Given the description of an element on the screen output the (x, y) to click on. 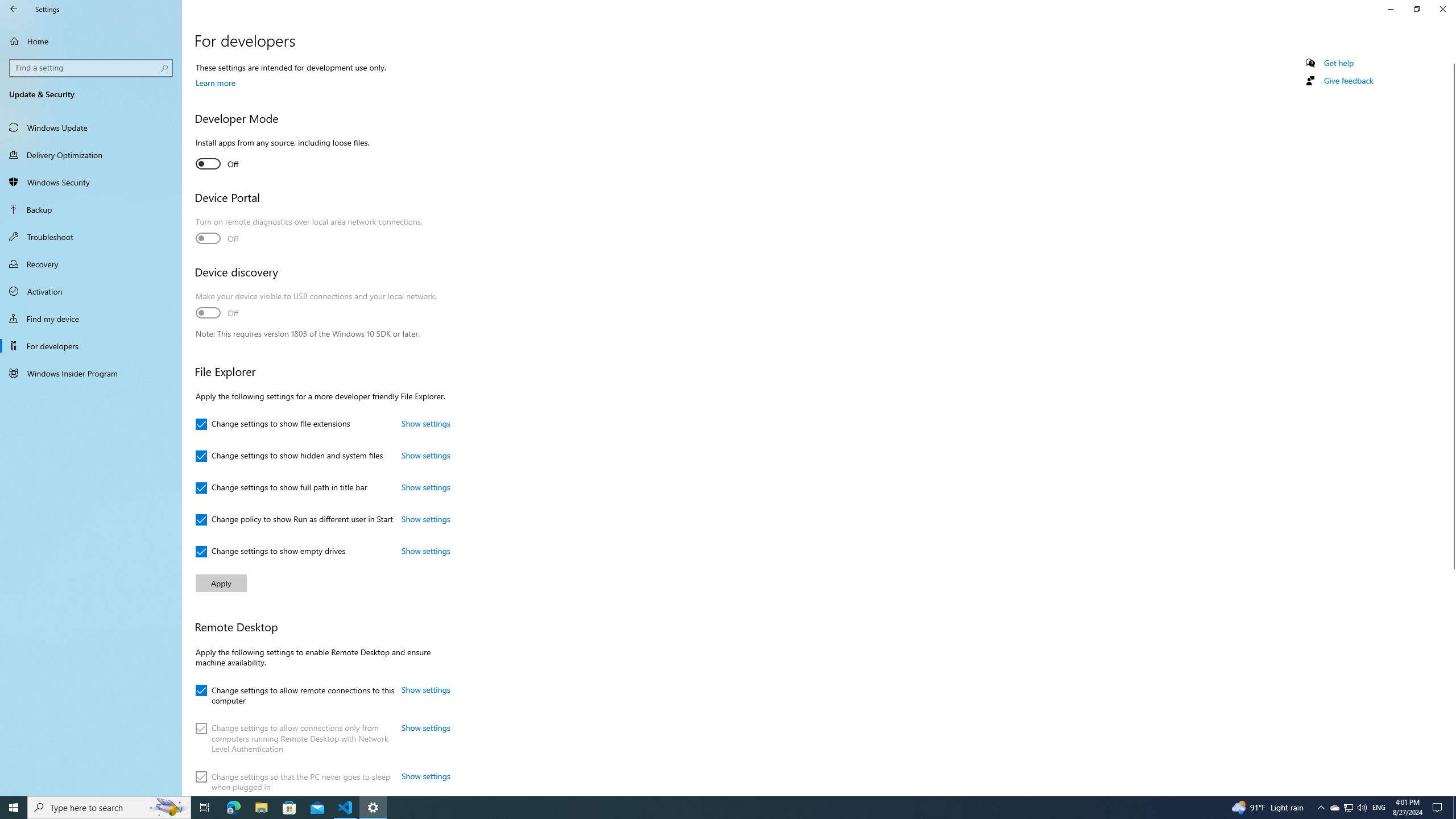
Get help (1338, 62)
Change settings to allow remote connections to this computer (294, 693)
Apply (221, 583)
Change settings to show full path in title bar (280, 488)
Windows Insider Program (91, 372)
Backup (91, 208)
